Given the description of an element on the screen output the (x, y) to click on. 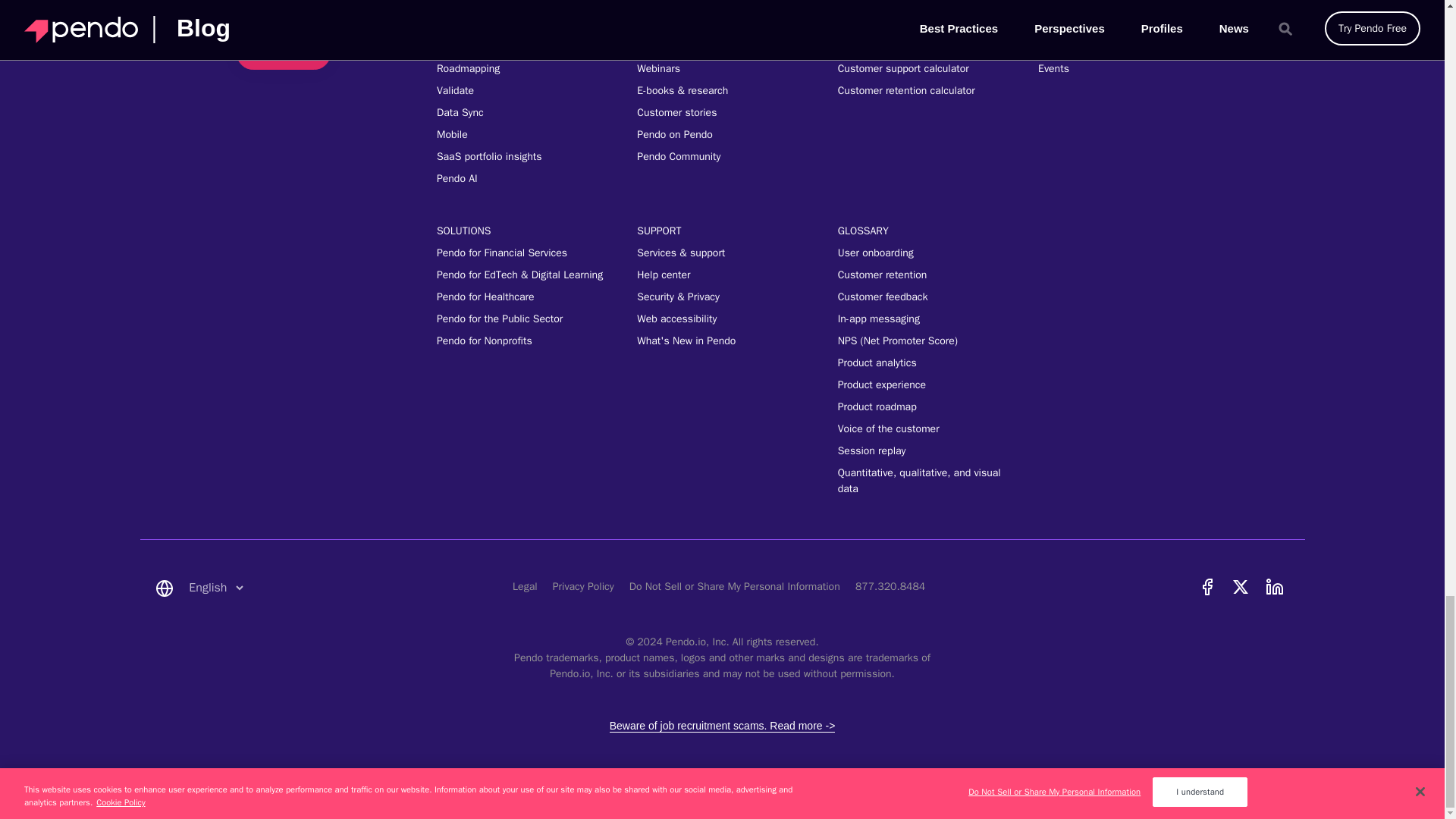
In-app Messaging (922, 318)
Customer Retention (922, 274)
Product Roadmap (922, 406)
User Onboarding (922, 252)
Customer Feedback (922, 296)
Product Experience (922, 384)
Voice of the Customer (922, 428)
Session Replay (922, 450)
Product Analytics (922, 362)
Quantitative, qualitative, and visual data (922, 480)
